Given the description of an element on the screen output the (x, y) to click on. 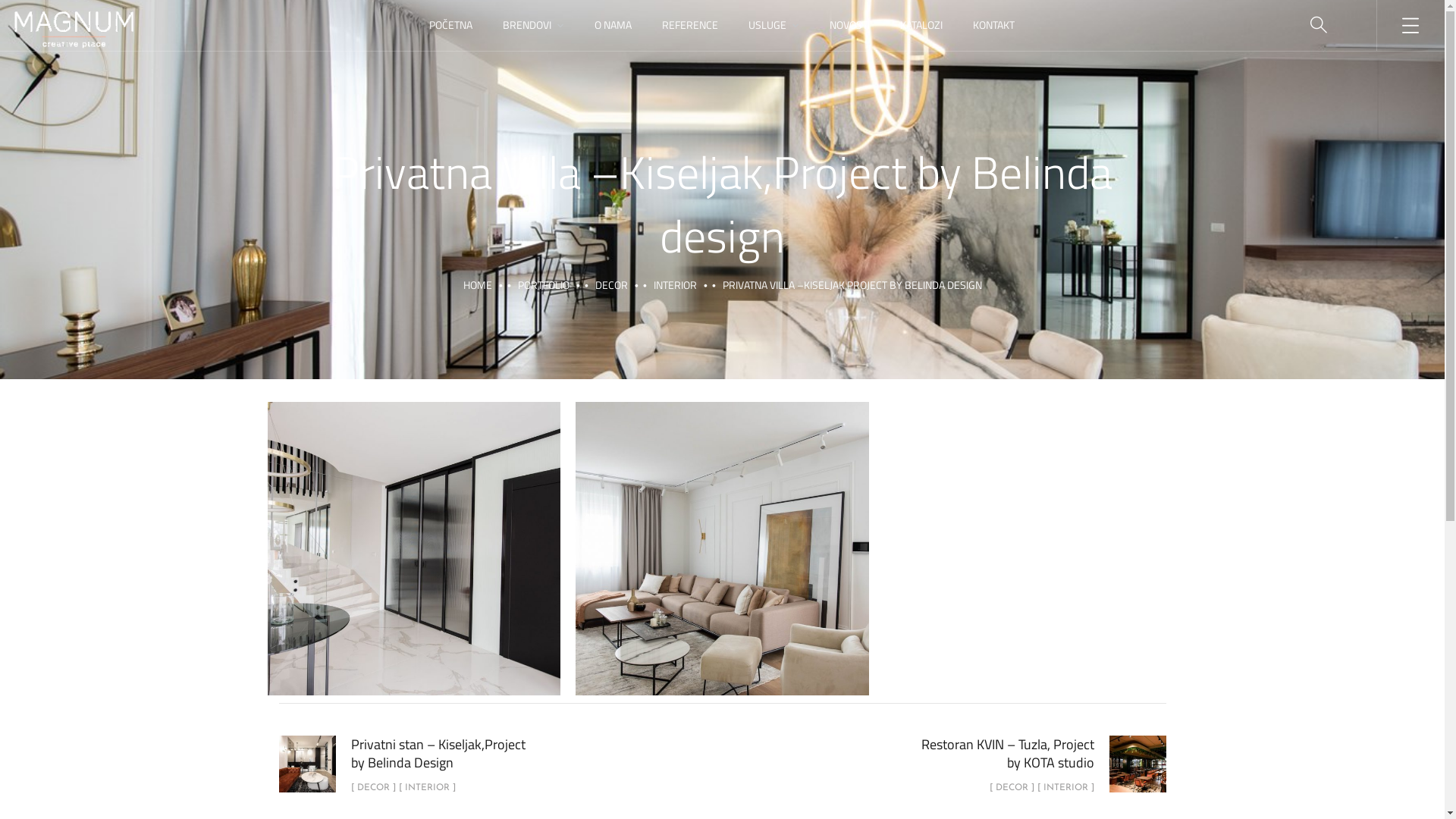
USLUGE Element type: text (773, 25)
BRENDOVI Element type: text (533, 25)
KATALOZI Element type: text (921, 25)
NOVOSTI Element type: text (849, 25)
HOME Element type: text (476, 284)
KONTAKT Element type: text (993, 25)
PORTFOLIO Element type: text (542, 284)
INTERIOR Element type: text (674, 284)
DECOR Element type: text (610, 284)
REFERENCE Element type: text (690, 25)
O NAMA Element type: text (612, 25)
